Given the description of an element on the screen output the (x, y) to click on. 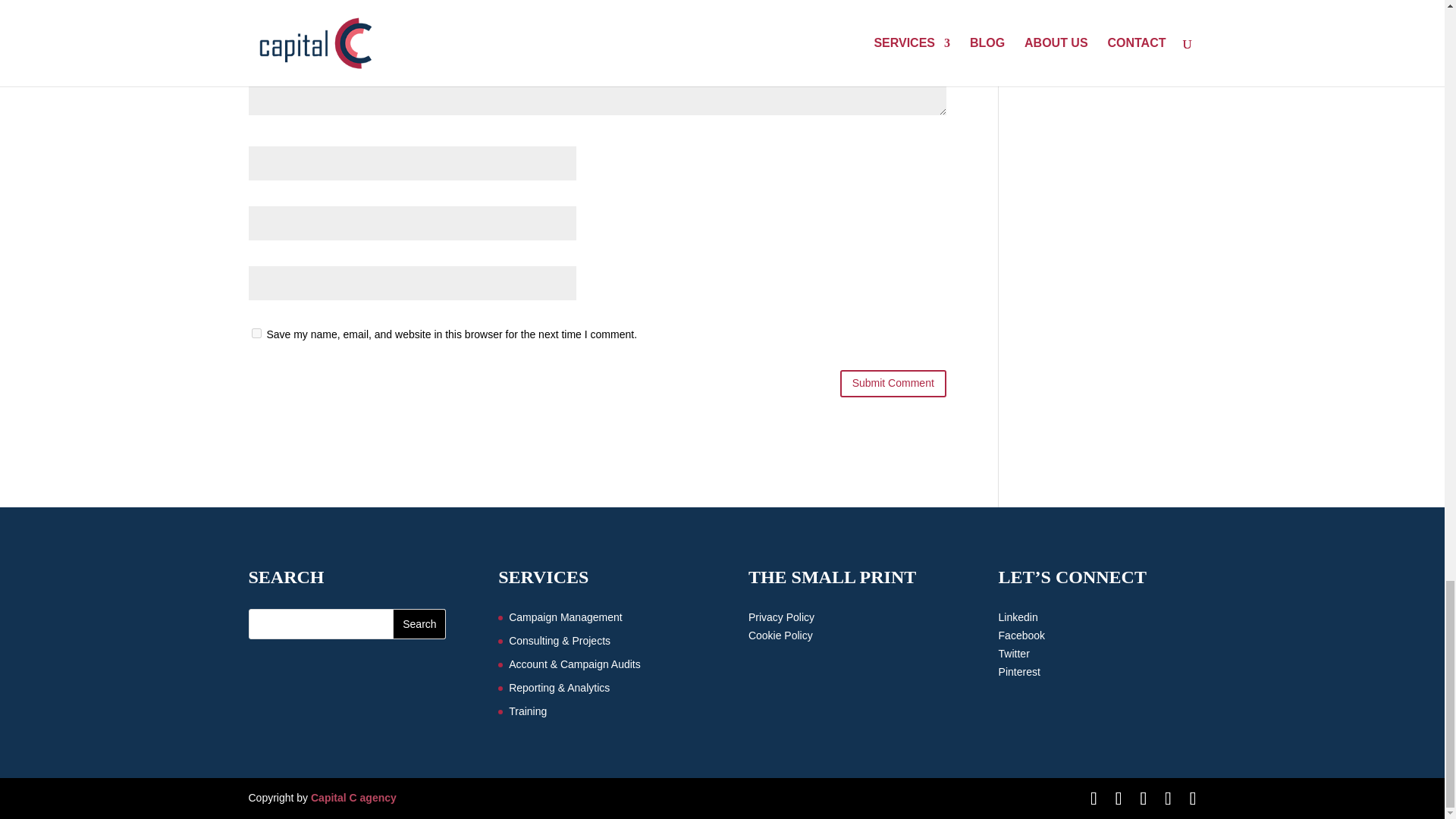
Submit Comment (893, 383)
Cookie Policy  (780, 635)
Privacy Policy  (780, 616)
yes (256, 333)
Campaign Management (564, 616)
Search (419, 624)
Search (419, 624)
Submit Comment (893, 383)
